Given the description of an element on the screen output the (x, y) to click on. 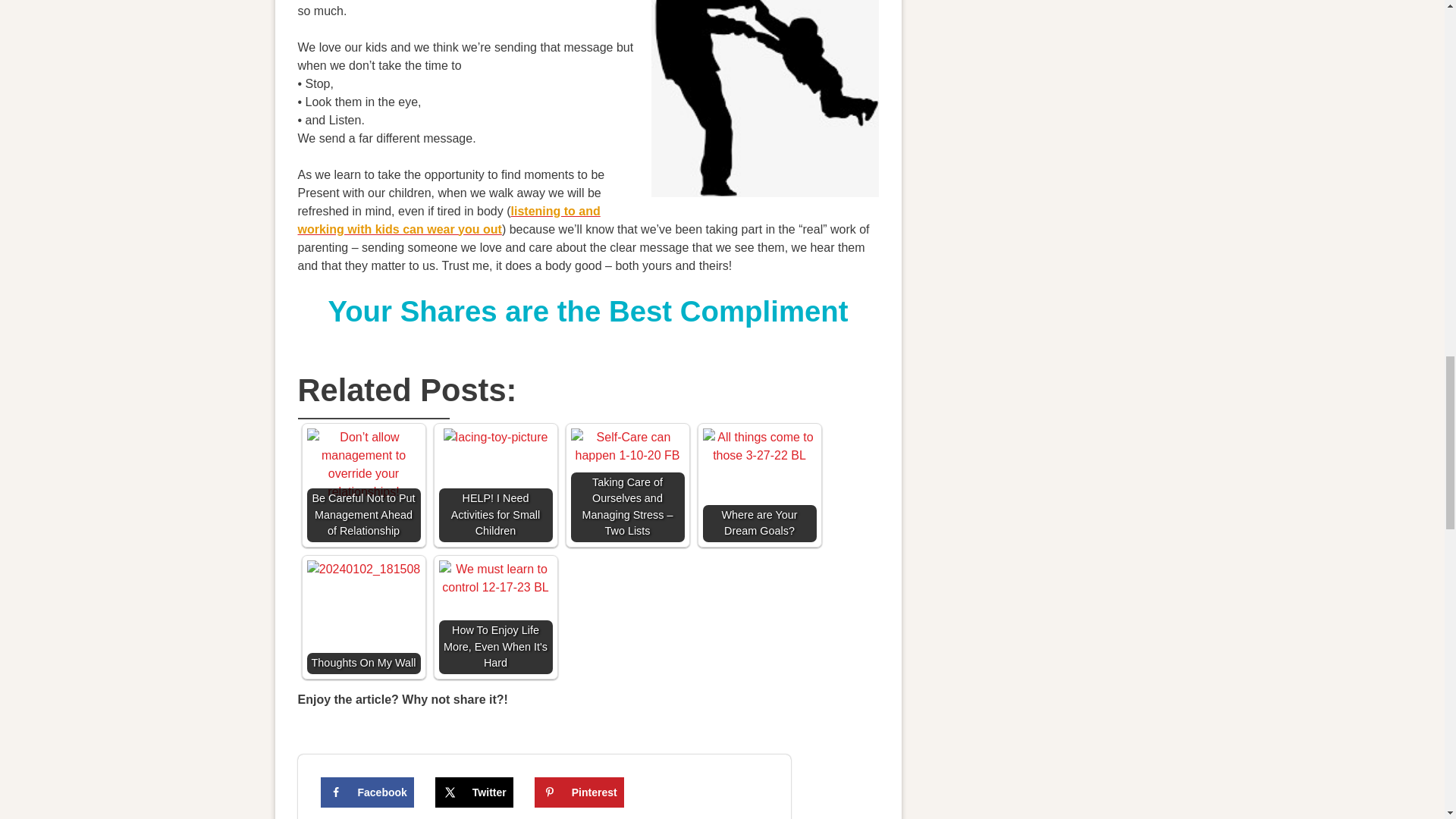
Where are Your Dream Goals? (758, 446)
Be Careful Not to Put Management Ahead of Relationship (362, 485)
Share on X (474, 792)
HELP! I Need Activities for Small Children (494, 485)
Save to Pinterest (579, 792)
Share on Facebook (366, 792)
Where are Your Dream Goals? (758, 485)
Thoughts On My Wall (362, 617)
Be Careful Not to Put Management Ahead of Relationship (362, 464)
HELP! I Need Activities for Small Children (496, 437)
